Given the description of an element on the screen output the (x, y) to click on. 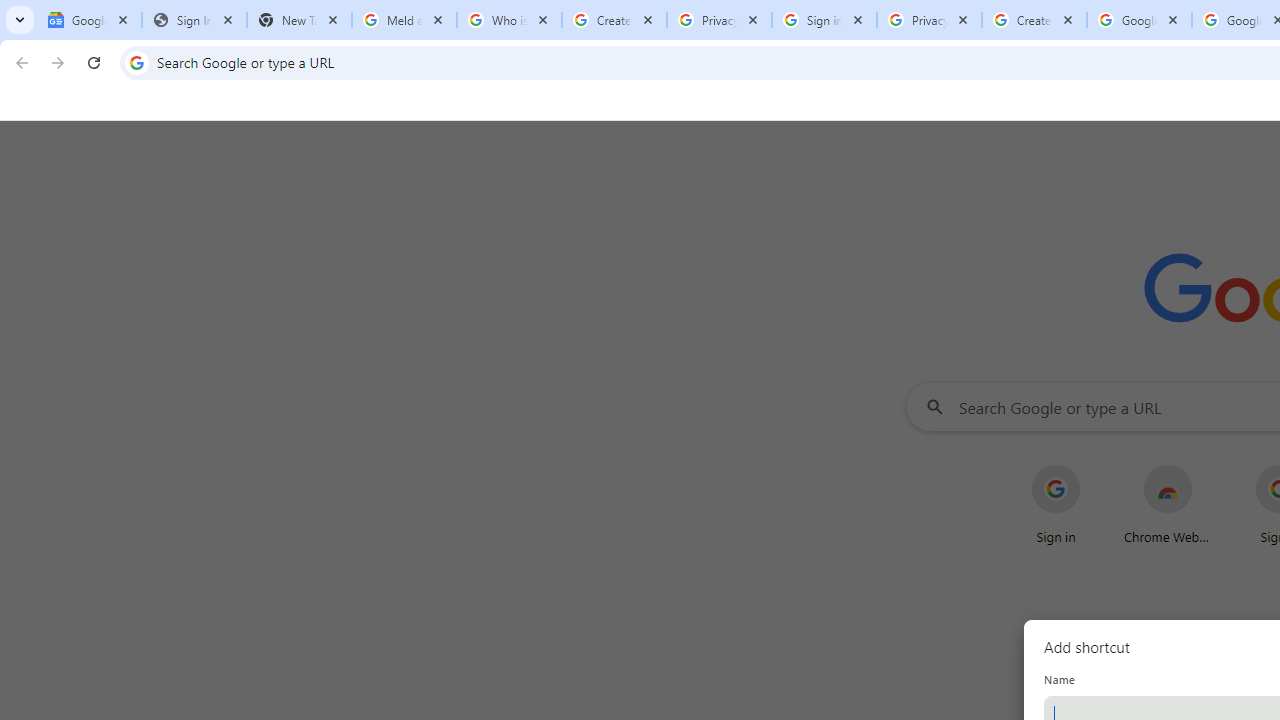
Google News (89, 20)
Sign in - Google Accounts (823, 20)
New Tab (299, 20)
Create your Google Account (1033, 20)
Who is my administrator? - Google Account Help (509, 20)
Create your Google Account (613, 20)
